Given the description of an element on the screen output the (x, y) to click on. 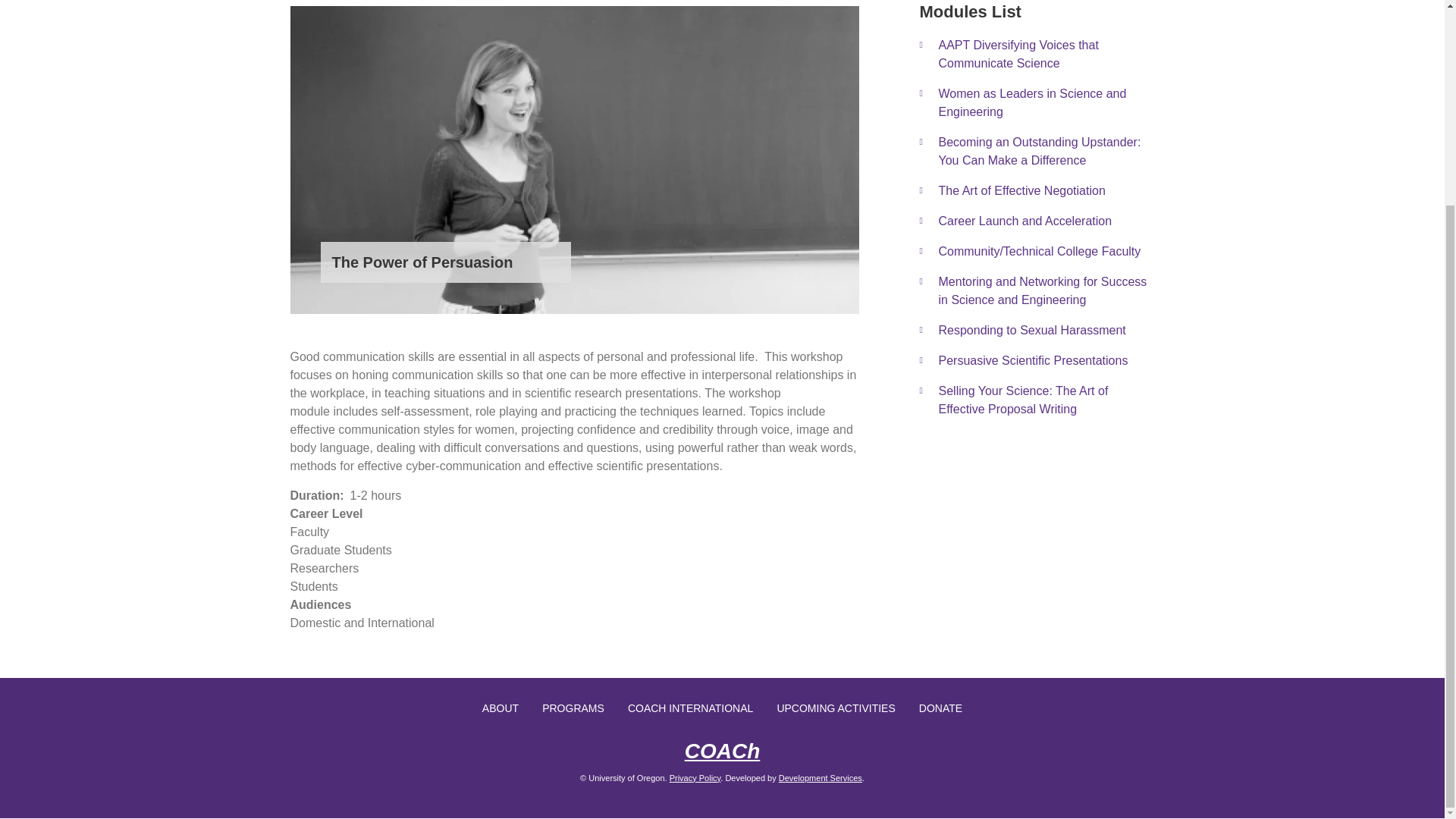
ABOUT (499, 708)
Privacy Policy (694, 777)
Persuasive Scientific Presentations (1038, 360)
Development Services (819, 777)
Career Launch and Acceleration (1045, 221)
PROGRAMS (572, 708)
COACH INTERNATIONAL (689, 708)
AAPT Diversifying Voices that Communicate Science (1061, 54)
Development services website (819, 777)
Responding to Sexual Harassment (1040, 330)
UPCOMING ACTIVITIES (835, 708)
Becoming an Outstanding Upstander: You Can Make a Difference (1052, 151)
The Art of Effective Negotiation (1049, 191)
